Given the description of an element on the screen output the (x, y) to click on. 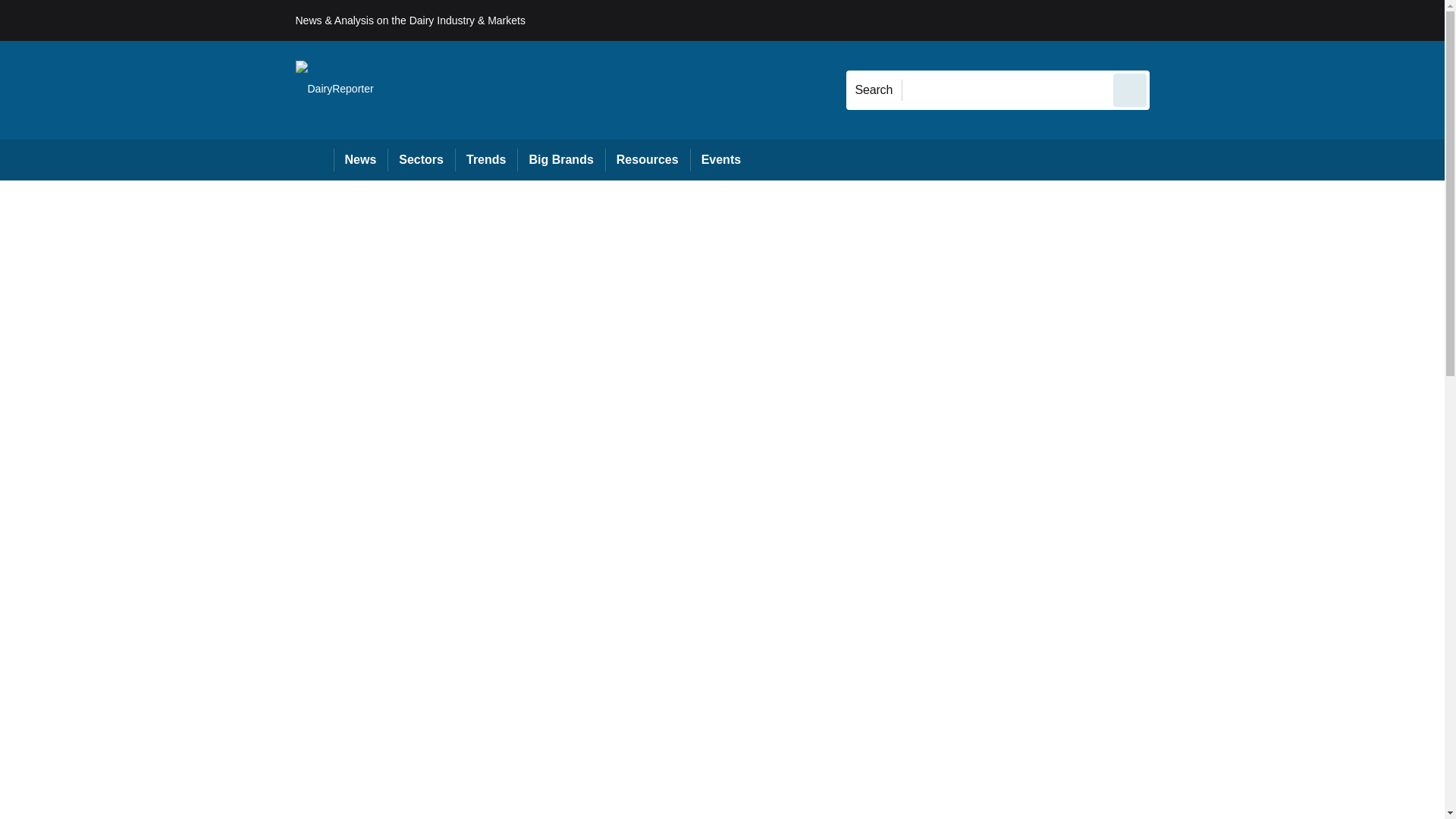
Send (1129, 89)
DairyReporter (334, 89)
Sign in (1171, 20)
News (360, 159)
Home (313, 159)
Home (314, 159)
Send (1129, 90)
REGISTER (1250, 20)
My account (1256, 20)
Sectors (420, 159)
